Given the description of an element on the screen output the (x, y) to click on. 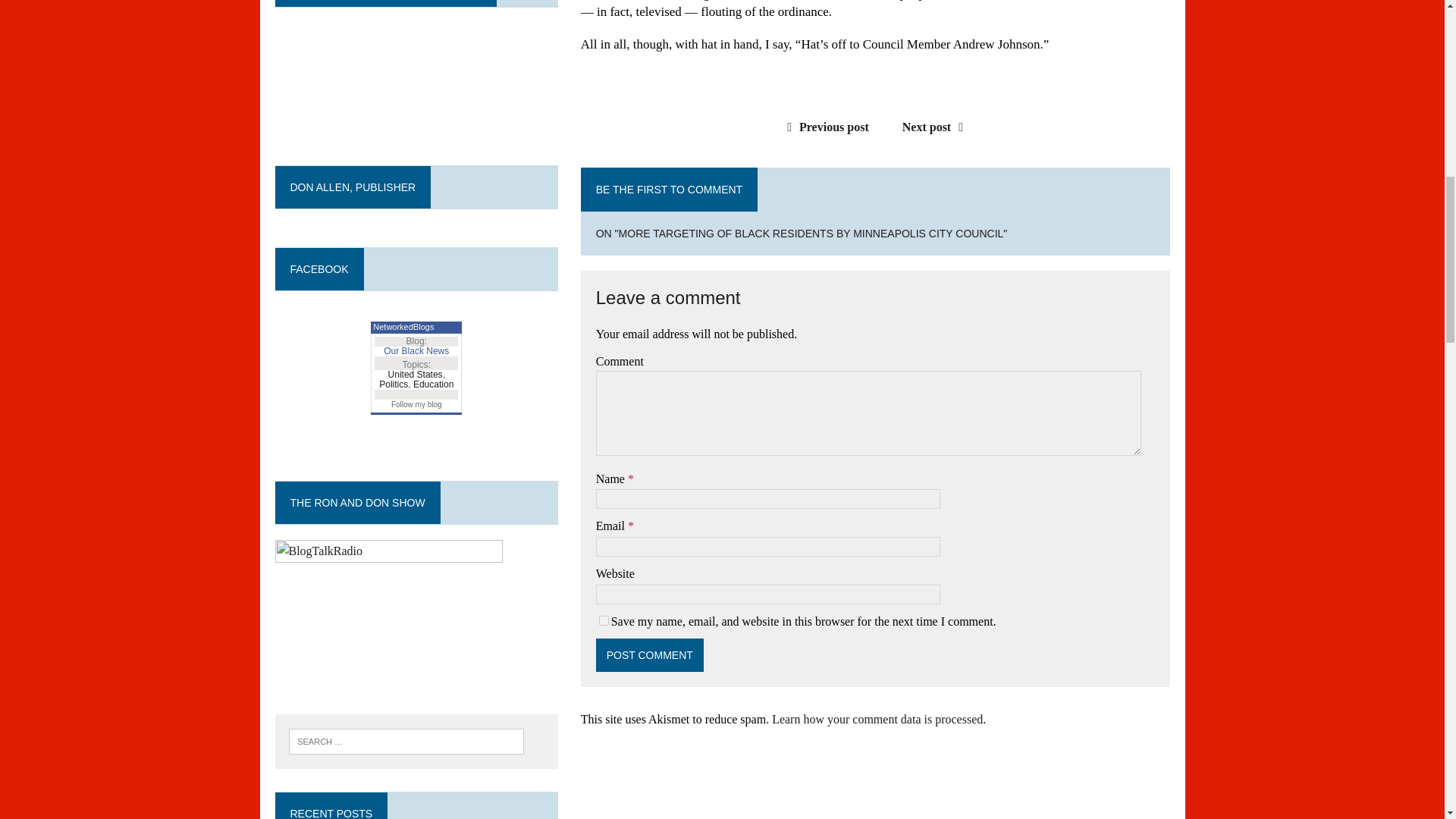
BlogTalkRadio (388, 615)
United States (415, 374)
Politics (392, 384)
Education (432, 384)
Learn how your comment data is processed (876, 718)
Next post (936, 126)
Previous post (823, 126)
Post Comment (649, 654)
yes (603, 620)
Our Black News (416, 350)
